Given the description of an element on the screen output the (x, y) to click on. 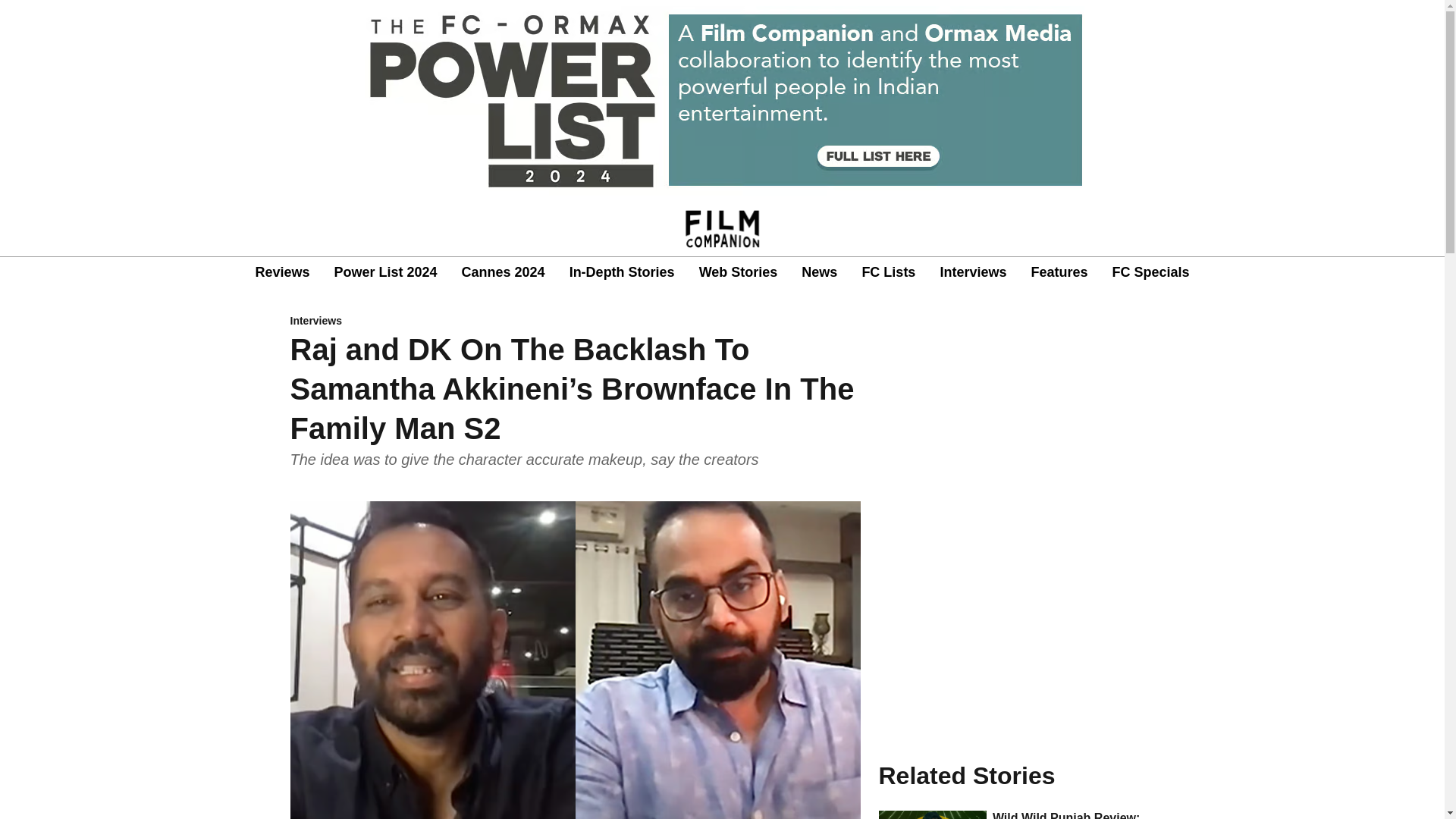
FC Lists (888, 272)
In-Depth Stories (622, 272)
Power List 2024 (384, 272)
Interviews (972, 272)
Features (1058, 272)
News (819, 272)
Advertisement (1015, 626)
Cannes 2024 (502, 272)
Reviews (281, 272)
